Given the description of an element on the screen output the (x, y) to click on. 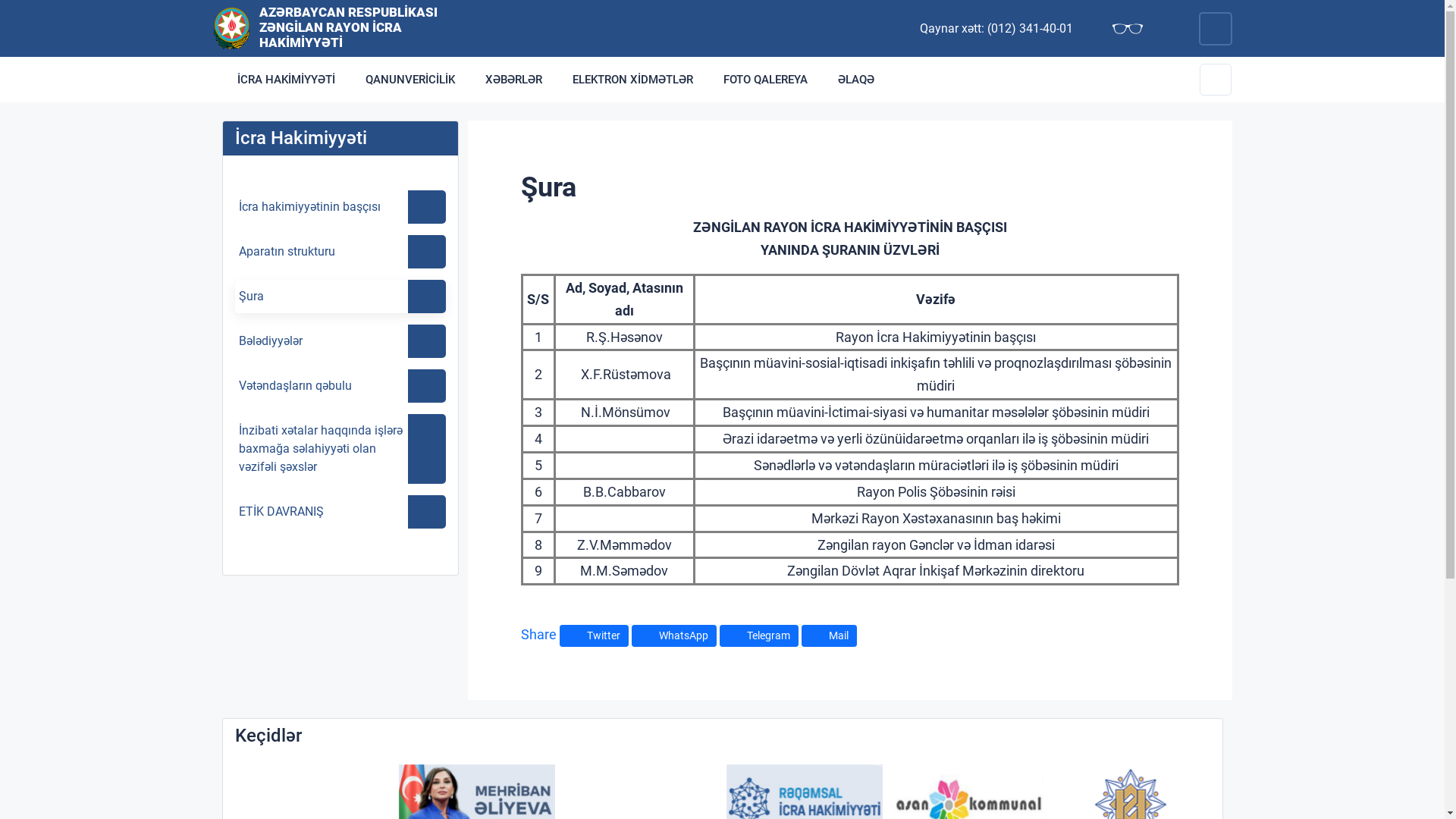
QANUNVERICILIK Element type: text (410, 79)
Telegram Element type: text (757, 635)
Share Element type: text (537, 634)
Twitter Element type: text (593, 635)
FOTO QALEREYA Element type: text (765, 79)
WhatsApp Element type: text (672, 635)
Mail Element type: text (828, 635)
